Given the description of an element on the screen output the (x, y) to click on. 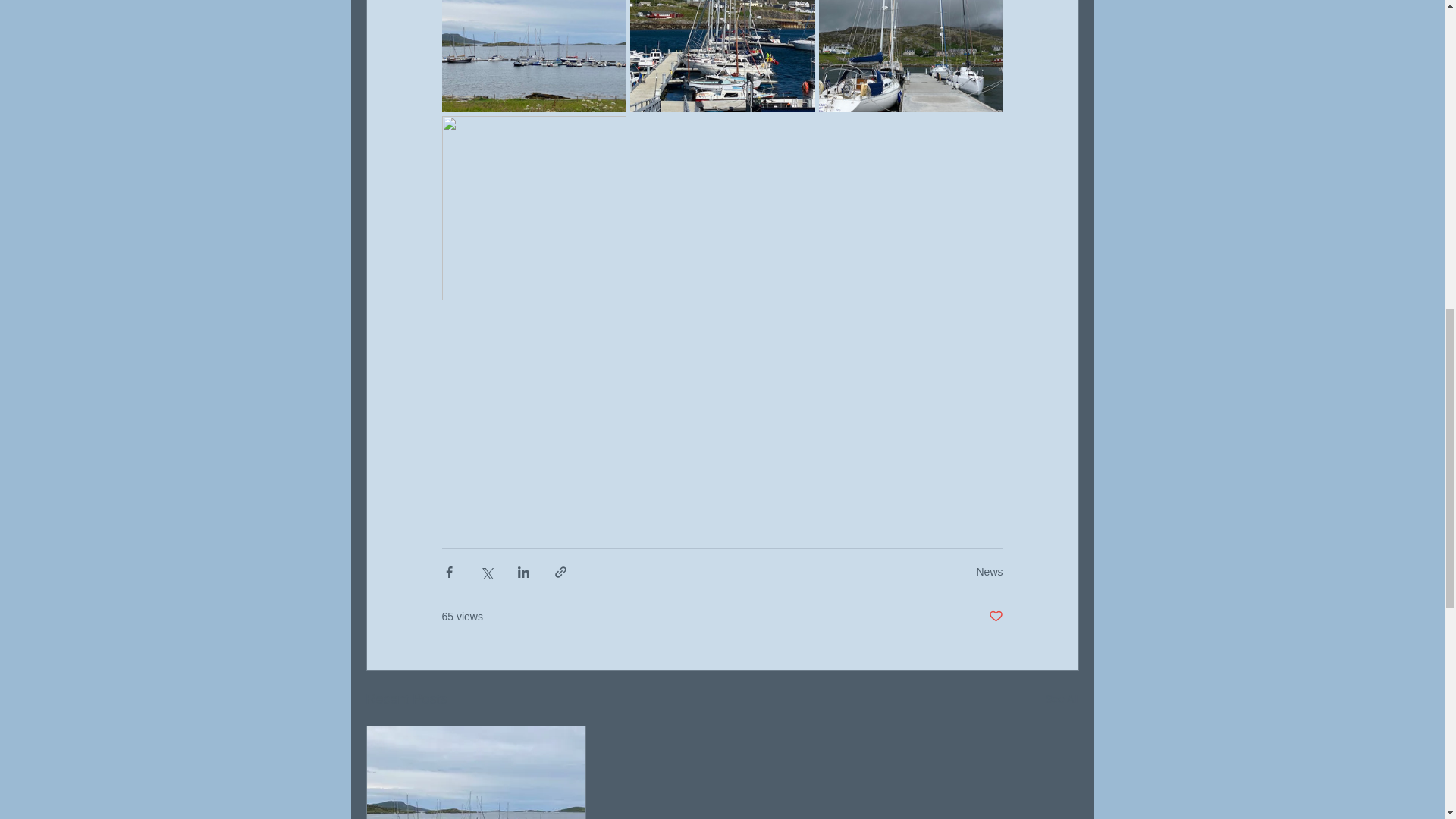
Post not marked as liked (995, 616)
See All (1061, 699)
News (989, 571)
